Given the description of an element on the screen output the (x, y) to click on. 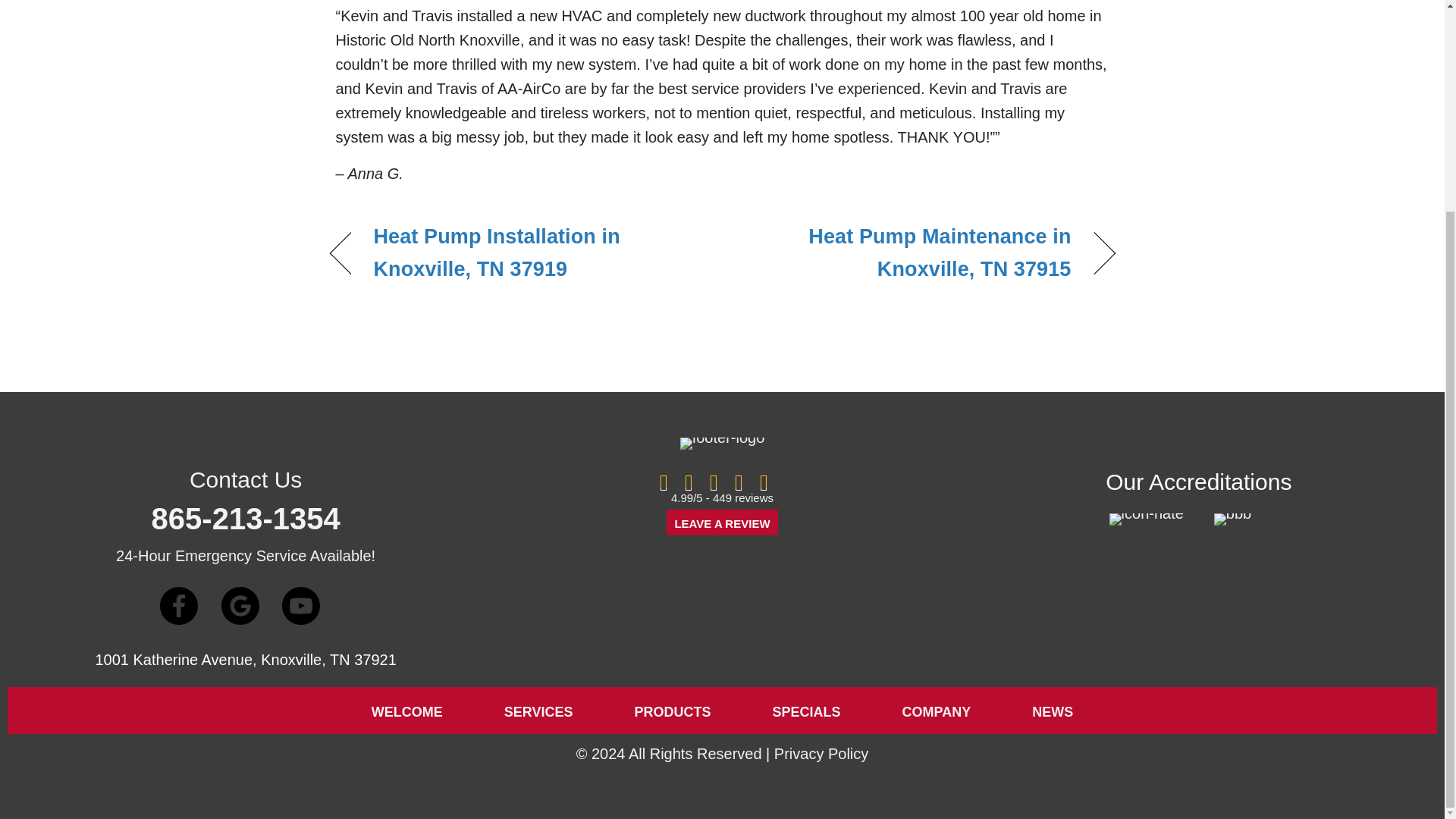
footer-logo (722, 443)
bbb (1232, 519)
icon-nate (1146, 519)
